Given the description of an element on the screen output the (x, y) to click on. 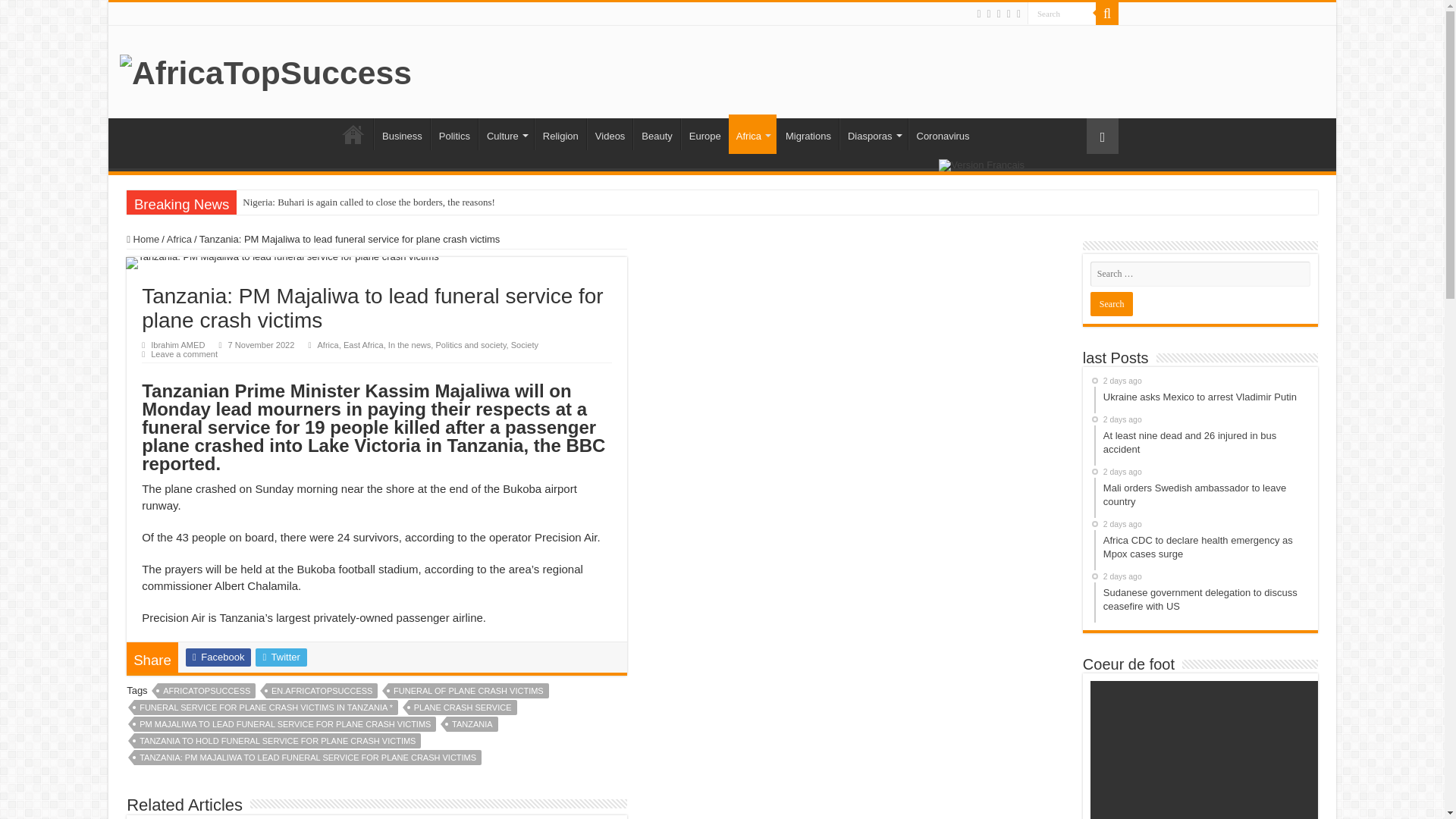
Search (1107, 13)
Search (1061, 13)
Search (1112, 303)
Search (1061, 13)
Search (1061, 13)
Search (1112, 303)
